Given the description of an element on the screen output the (x, y) to click on. 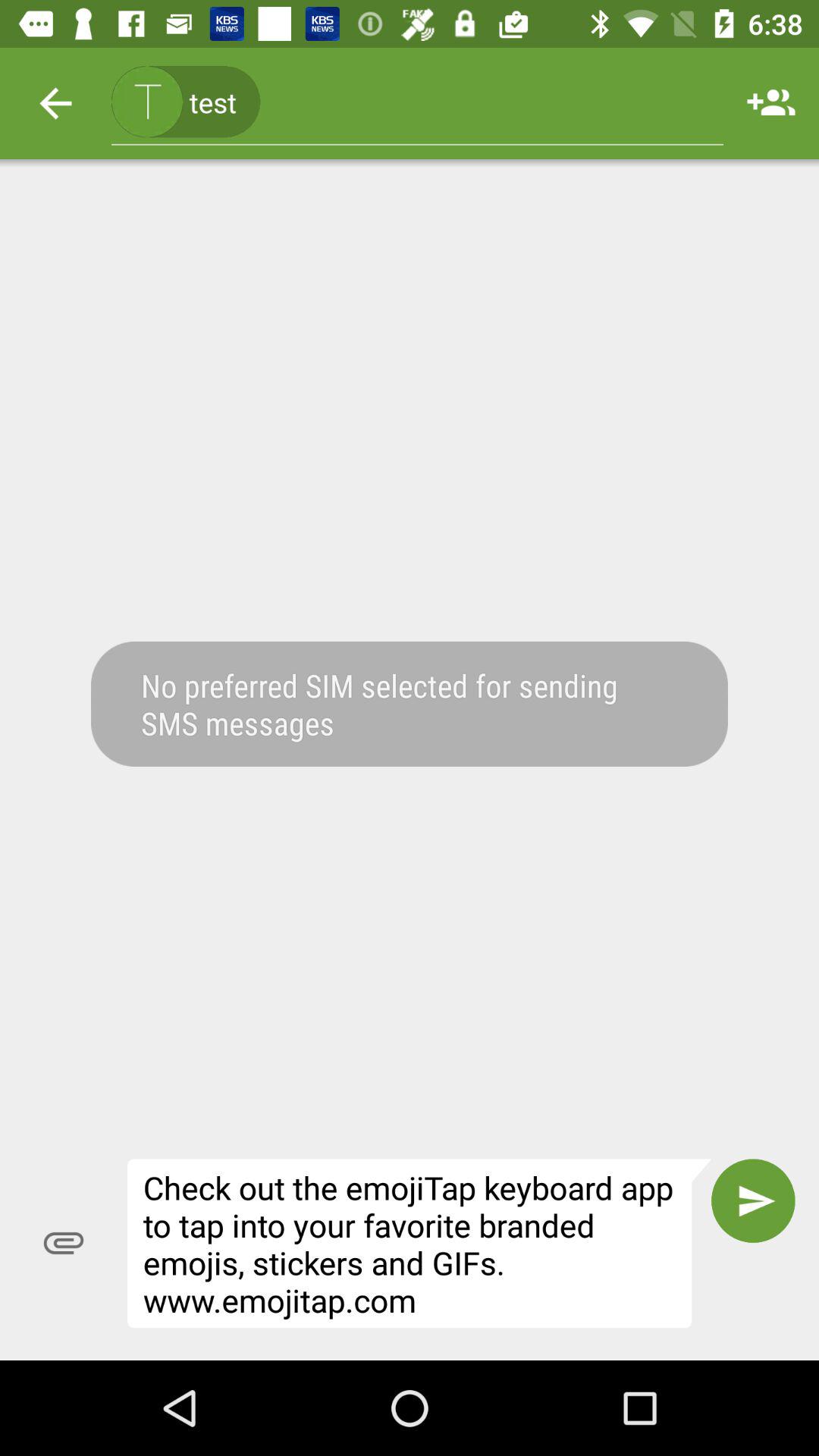
click item to the right of the check out the (753, 1200)
